Given the description of an element on the screen output the (x, y) to click on. 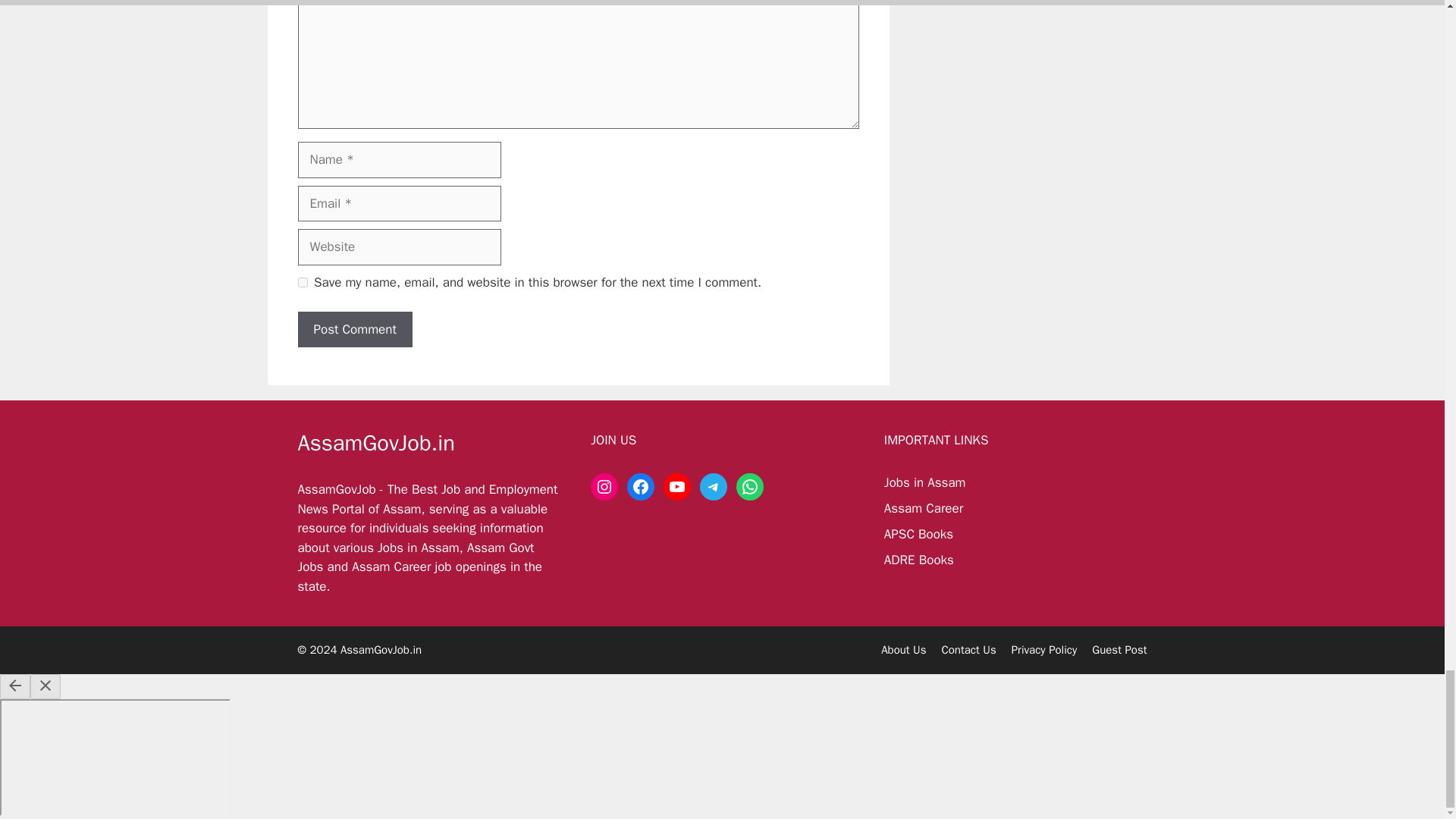
Post Comment (354, 330)
yes (302, 282)
Post Comment (354, 330)
